Given the description of an element on the screen output the (x, y) to click on. 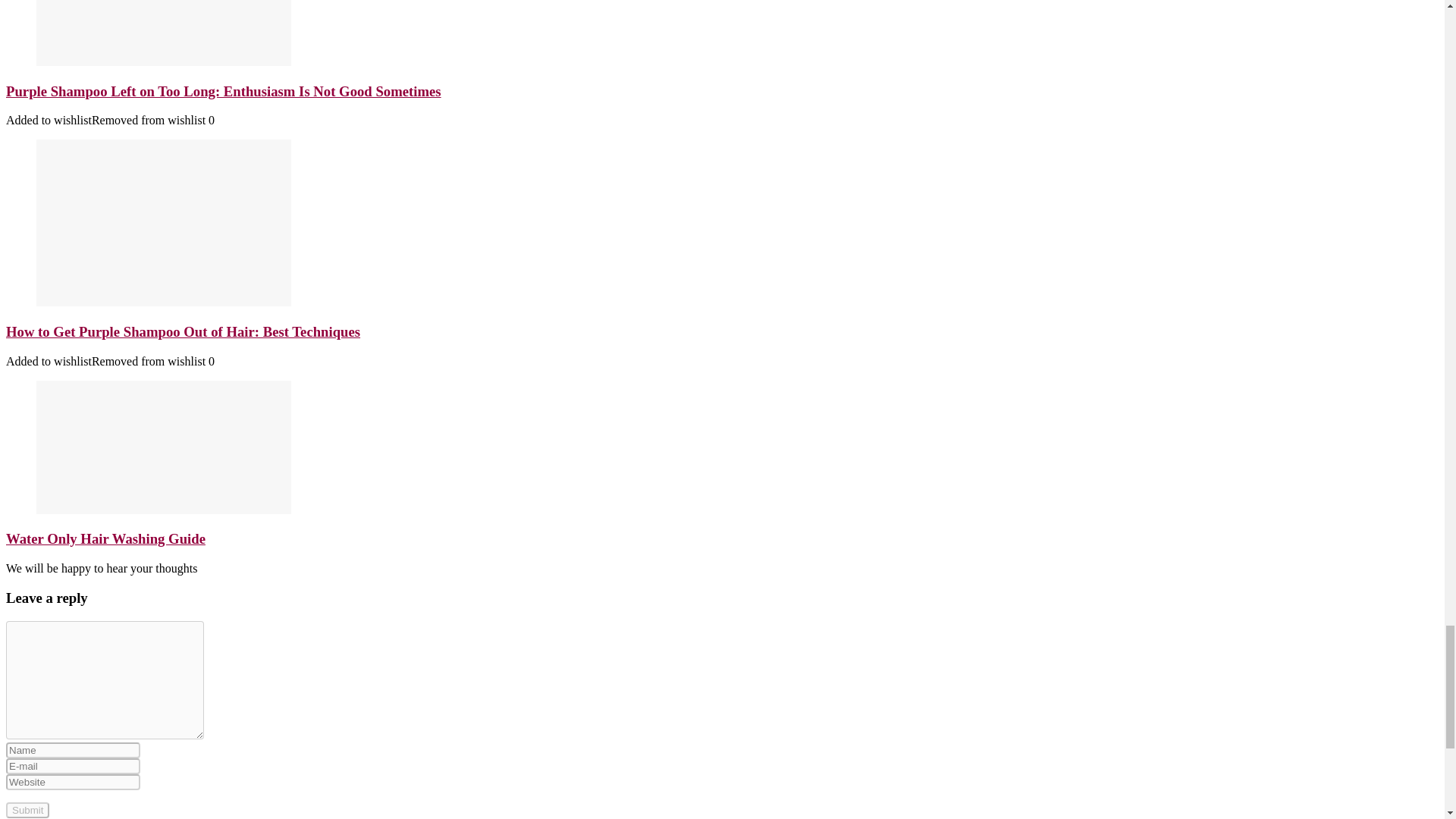
Submit (27, 810)
